Given the description of an element on the screen output the (x, y) to click on. 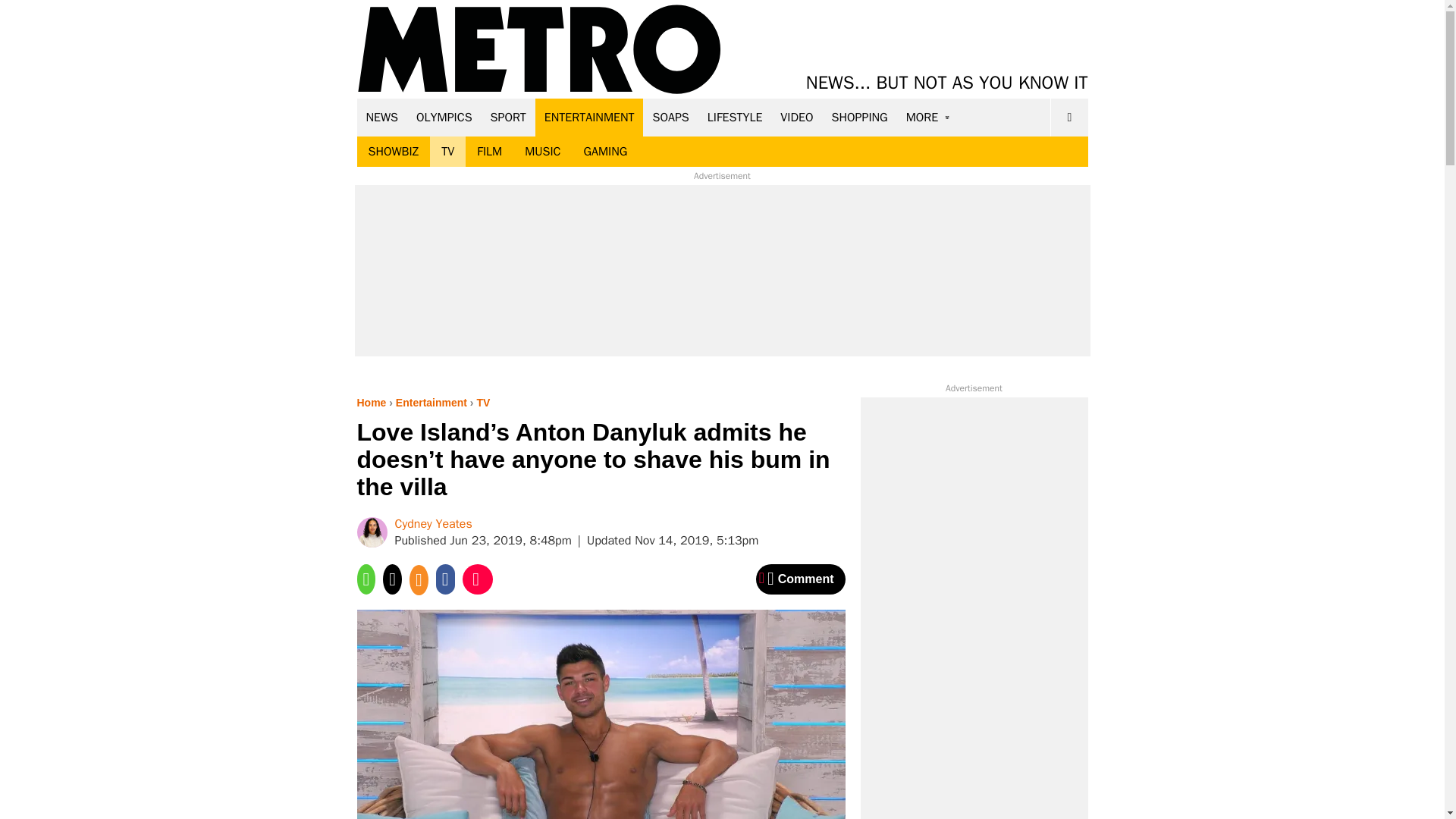
ENTERTAINMENT (589, 117)
GAMING (605, 151)
SPORT (508, 117)
Metro (539, 50)
FILM (489, 151)
TV (447, 151)
NEWS (381, 117)
OLYMPICS (444, 117)
LIFESTYLE (734, 117)
SHOWBIZ (392, 151)
